Given the description of an element on the screen output the (x, y) to click on. 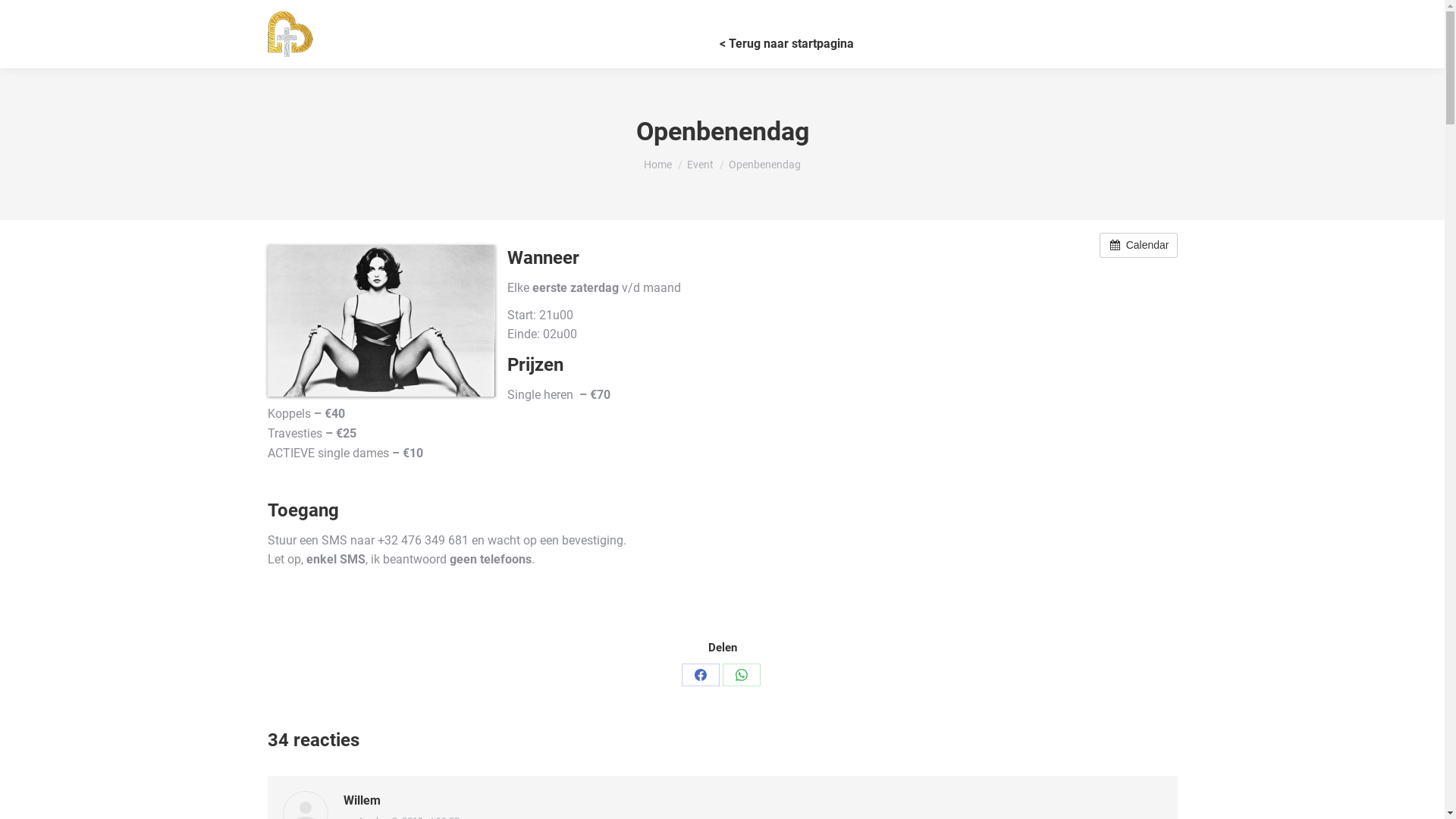
Share on WhatsApp Element type: text (740, 674)
Home Element type: text (657, 164)
Reactie plaatsen Element type: text (56, 16)
Event Element type: text (700, 164)
Calendar Element type: text (1138, 244)
Share on Facebook Element type: text (699, 674)
< Terug naar startpagina Element type: text (786, 43)
